Given the description of an element on the screen output the (x, y) to click on. 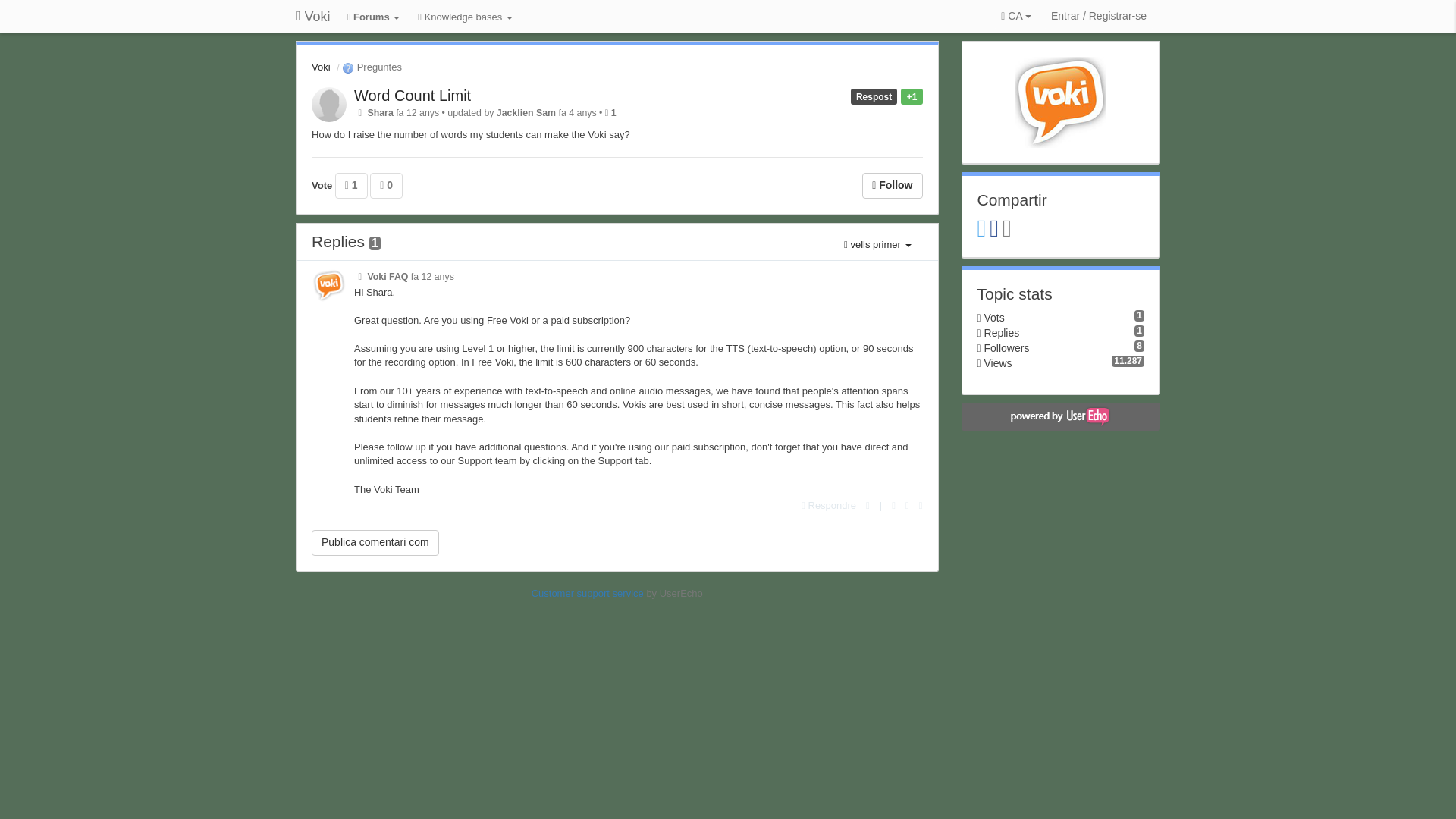
Voki (312, 16)
Publica comentari com (375, 542)
CA (1015, 16)
Preguntes (370, 66)
Knowledge bases (465, 17)
Forums (374, 17)
